Given the description of an element on the screen output the (x, y) to click on. 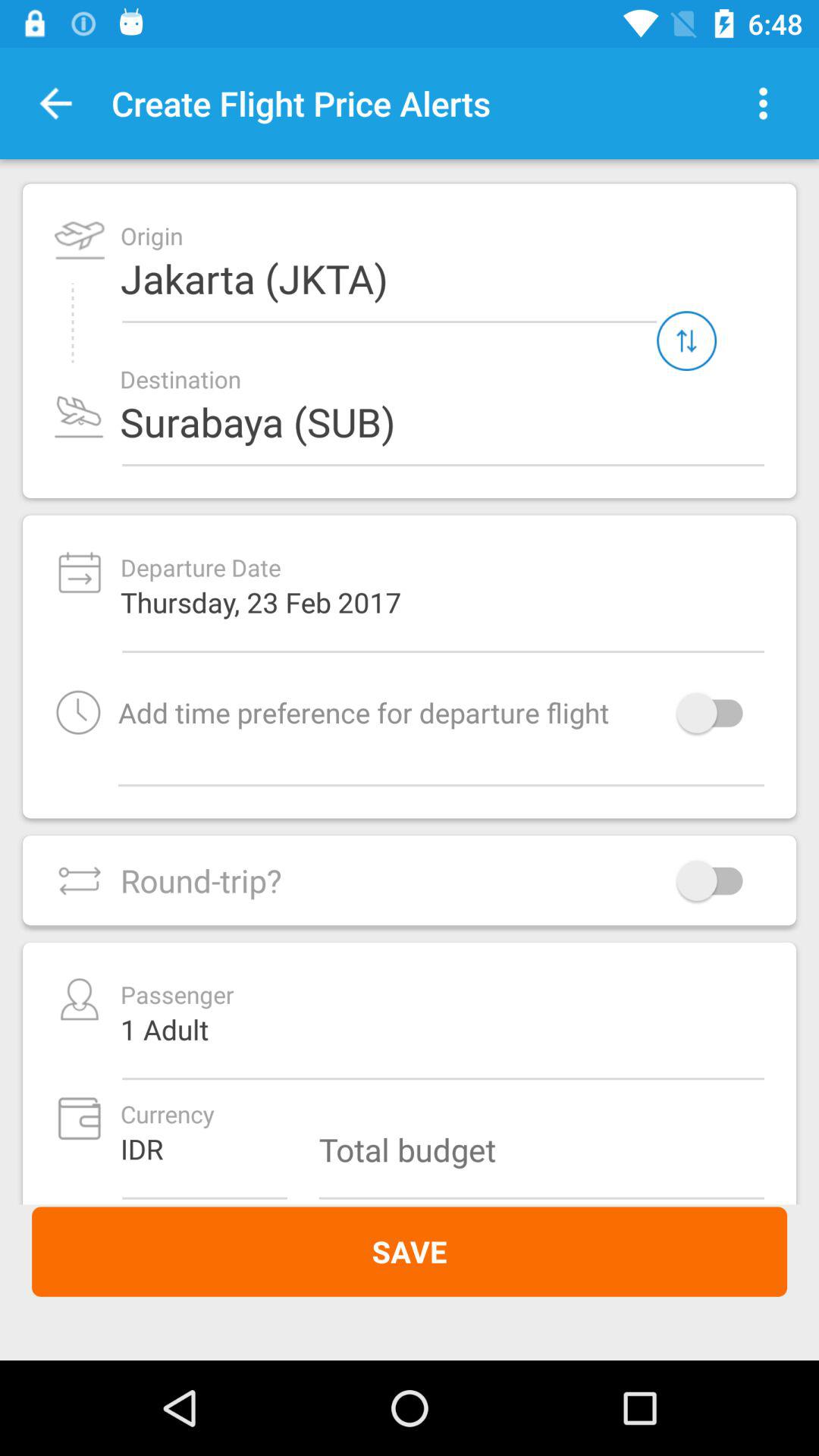
more information (763, 103)
